Given the description of an element on the screen output the (x, y) to click on. 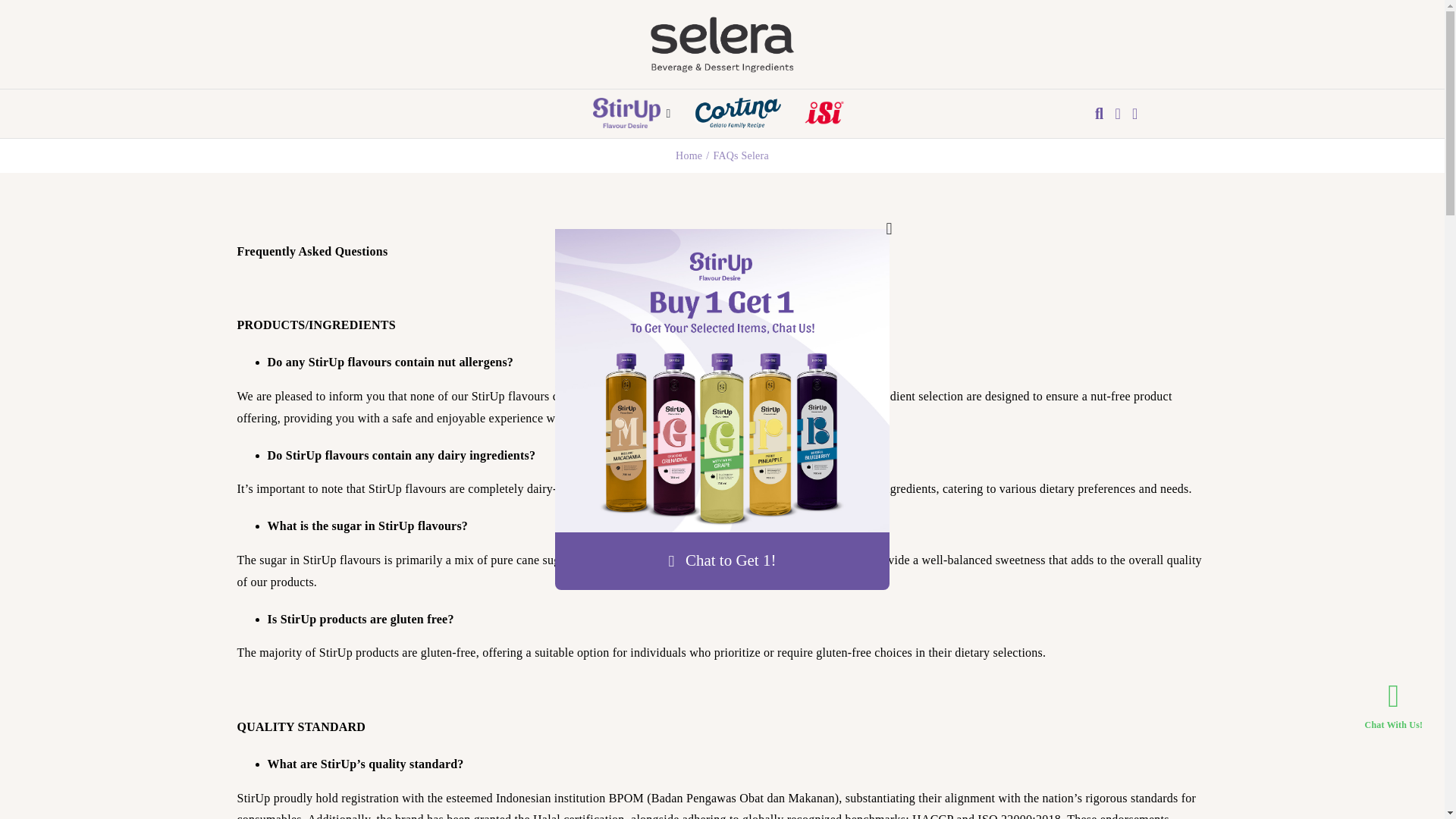
Dessert Family Recipe (737, 112)
StirUp (626, 112)
Home (688, 155)
Chat With Us! (1388, 708)
